Given the description of an element on the screen output the (x, y) to click on. 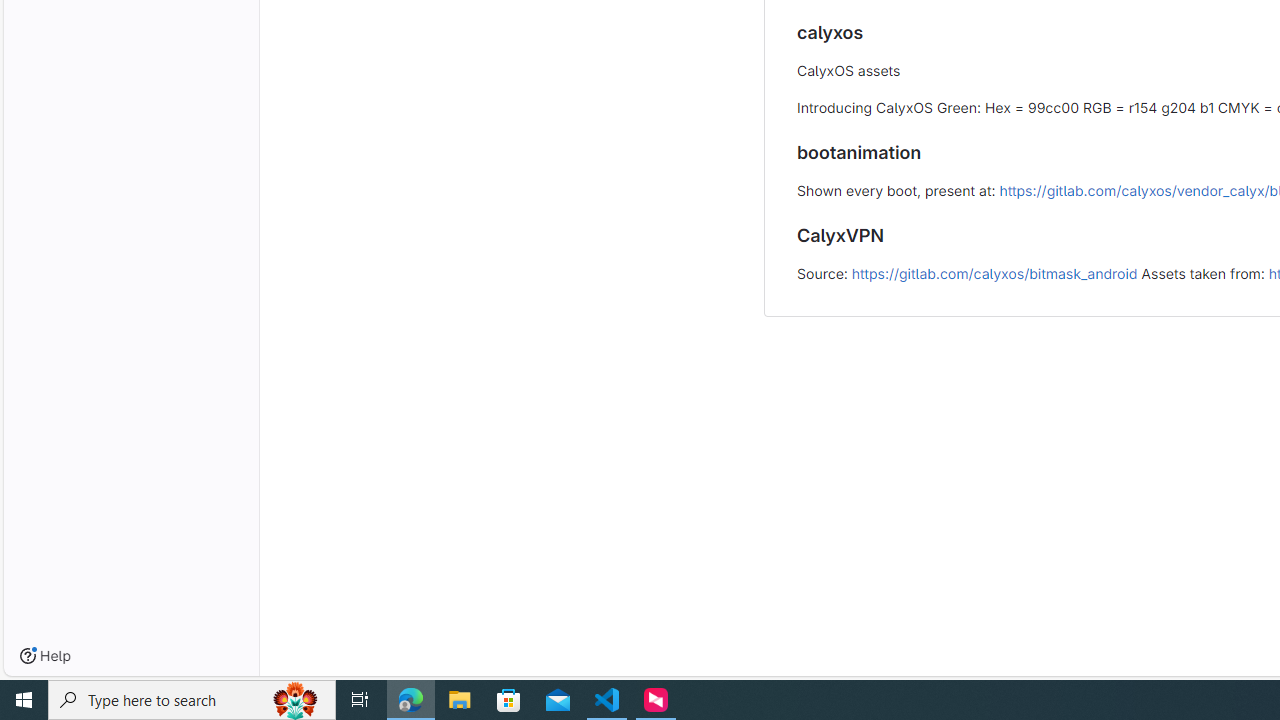
https://gitlab.com/calyxos/bitmask_android (994, 273)
